Given the description of an element on the screen output the (x, y) to click on. 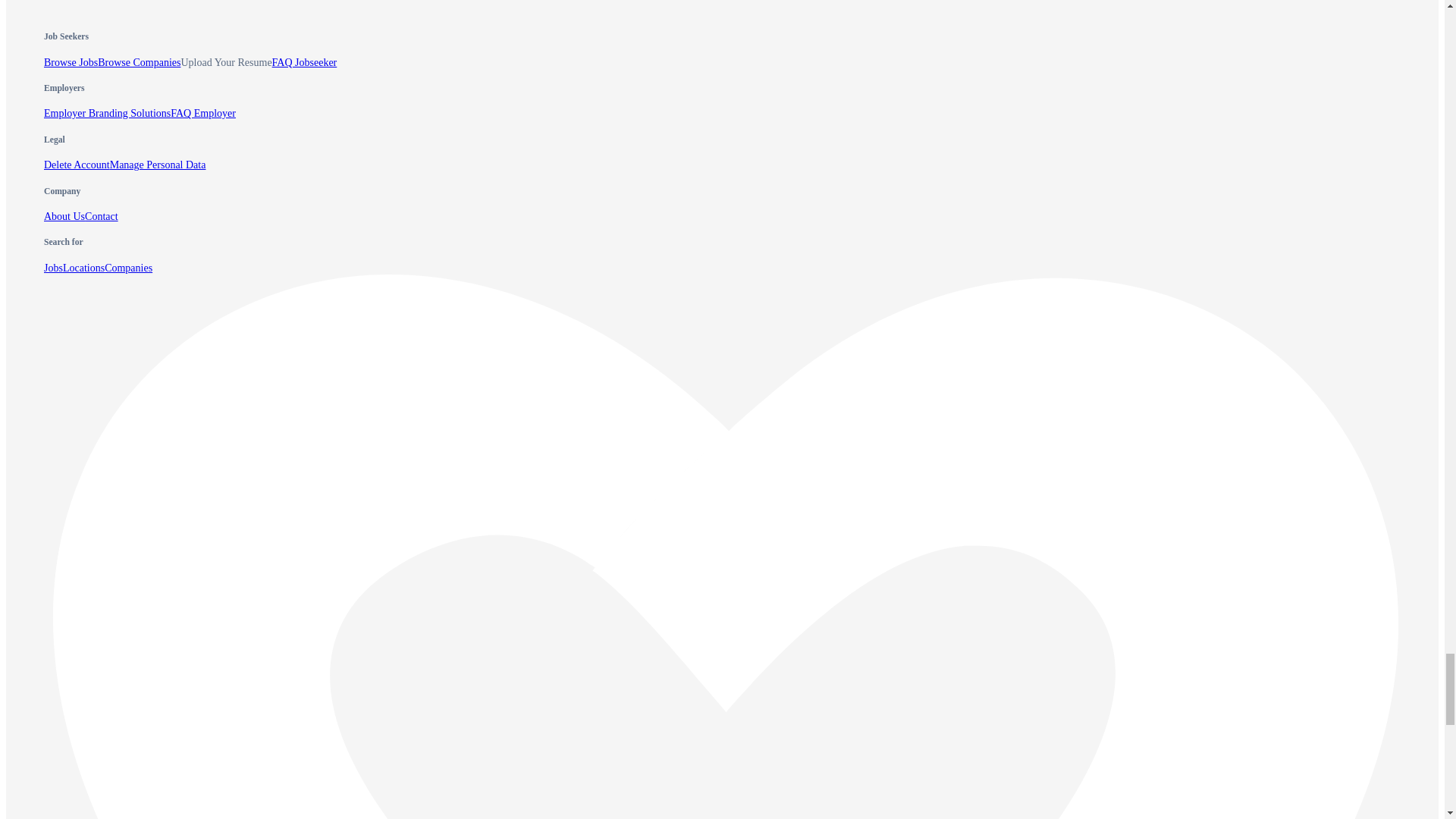
FAQ Jobseeker (304, 61)
Manage Personal Data (158, 164)
Browse Jobs (70, 61)
Employer Branding Solutions (106, 112)
About Us (63, 215)
Companies (128, 267)
FAQ Employer (202, 112)
Delete Account (76, 164)
Contact (100, 215)
Jobs (52, 267)
Browse Companies (138, 61)
Locations (83, 267)
Upload Your Resume (225, 61)
